Given the description of an element on the screen output the (x, y) to click on. 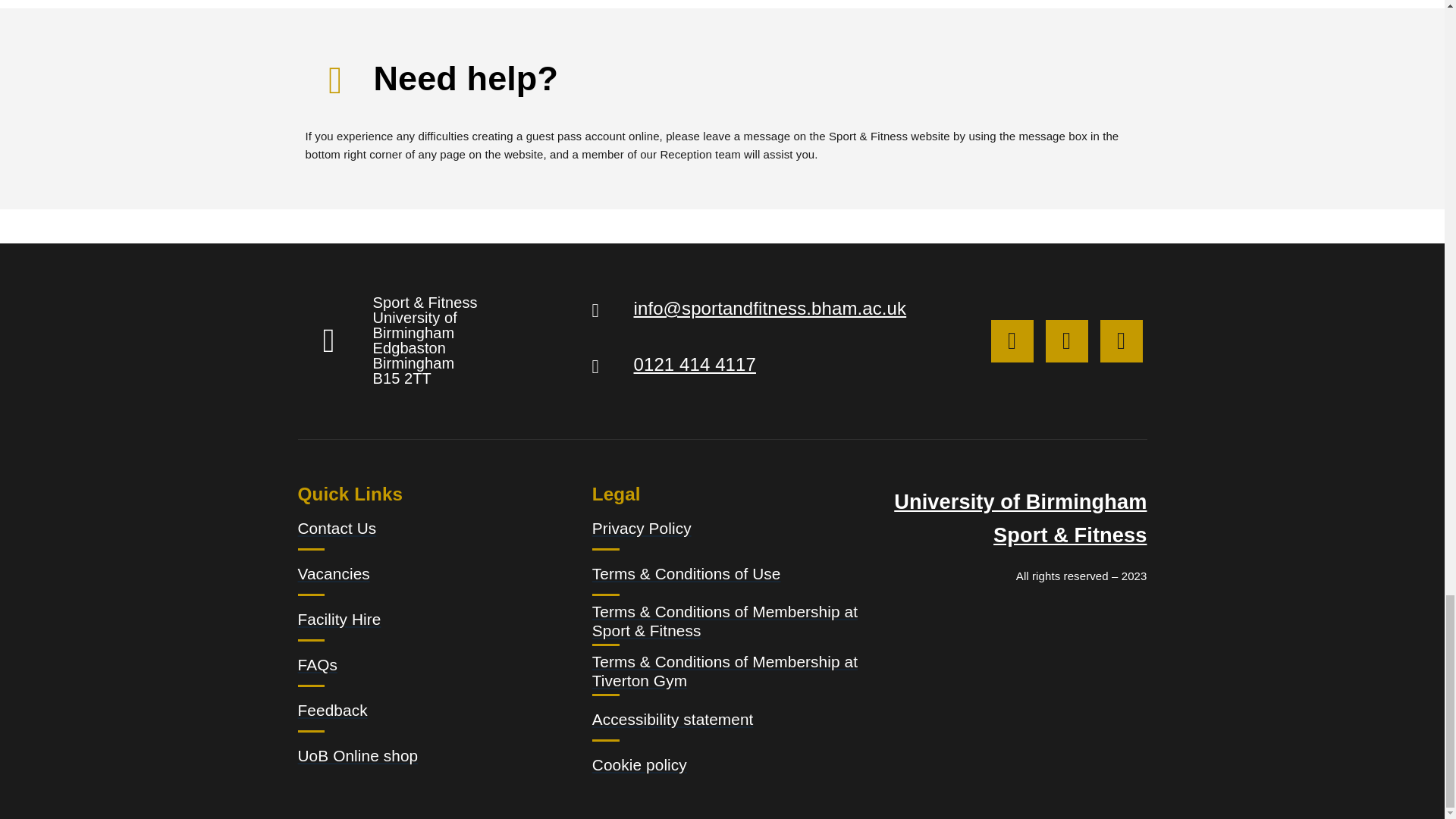
Facility Hire (433, 618)
Accessibility statement (727, 718)
UoB Online shop (433, 755)
Contact Us (433, 527)
0121 414 4117 (694, 369)
Privacy Policy (727, 527)
Feedback (433, 709)
FAQs (433, 663)
Cookie policy (727, 764)
Vacancies (433, 572)
